Given the description of an element on the screen output the (x, y) to click on. 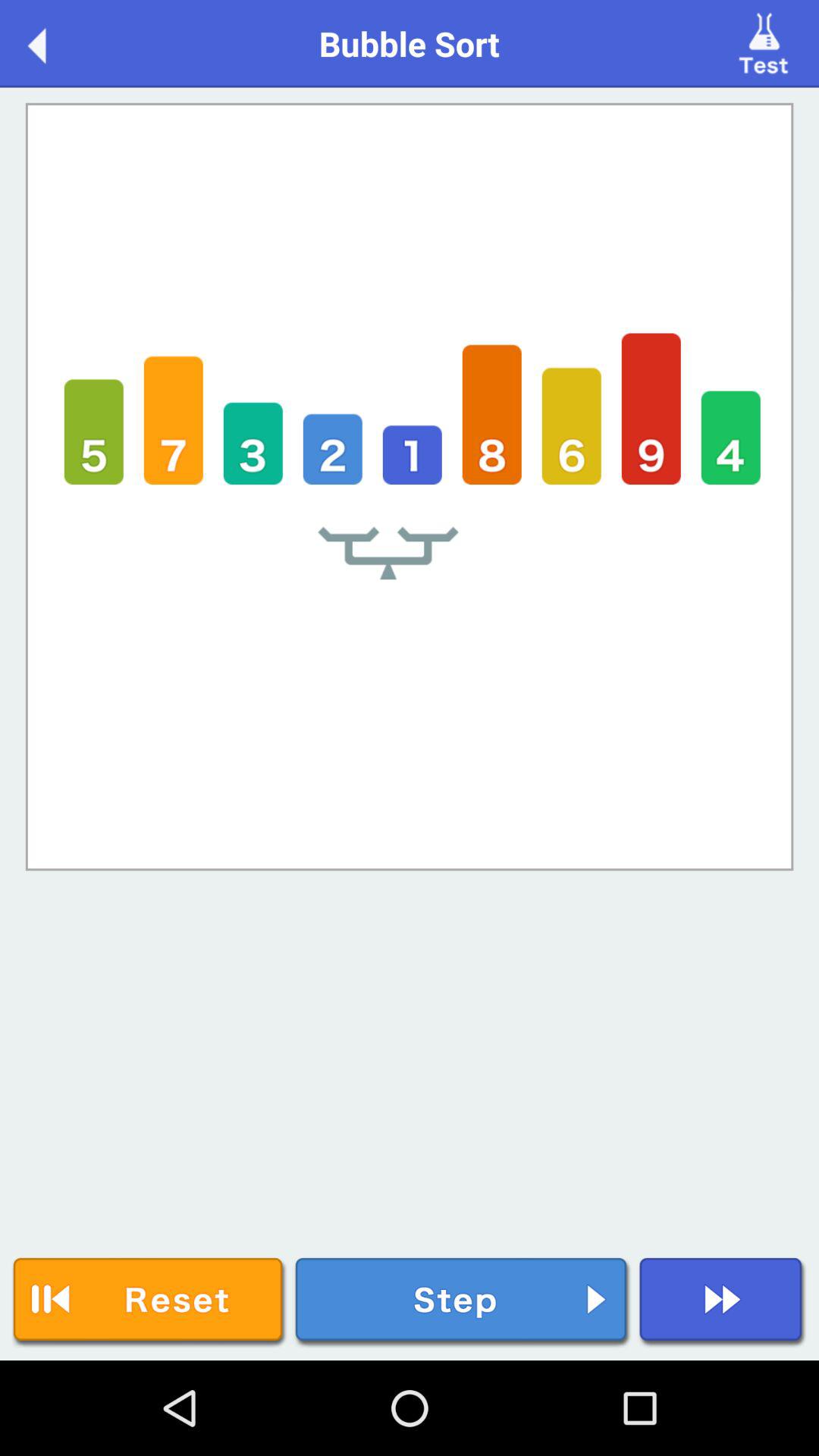
back button (52, 42)
